Given the description of an element on the screen output the (x, y) to click on. 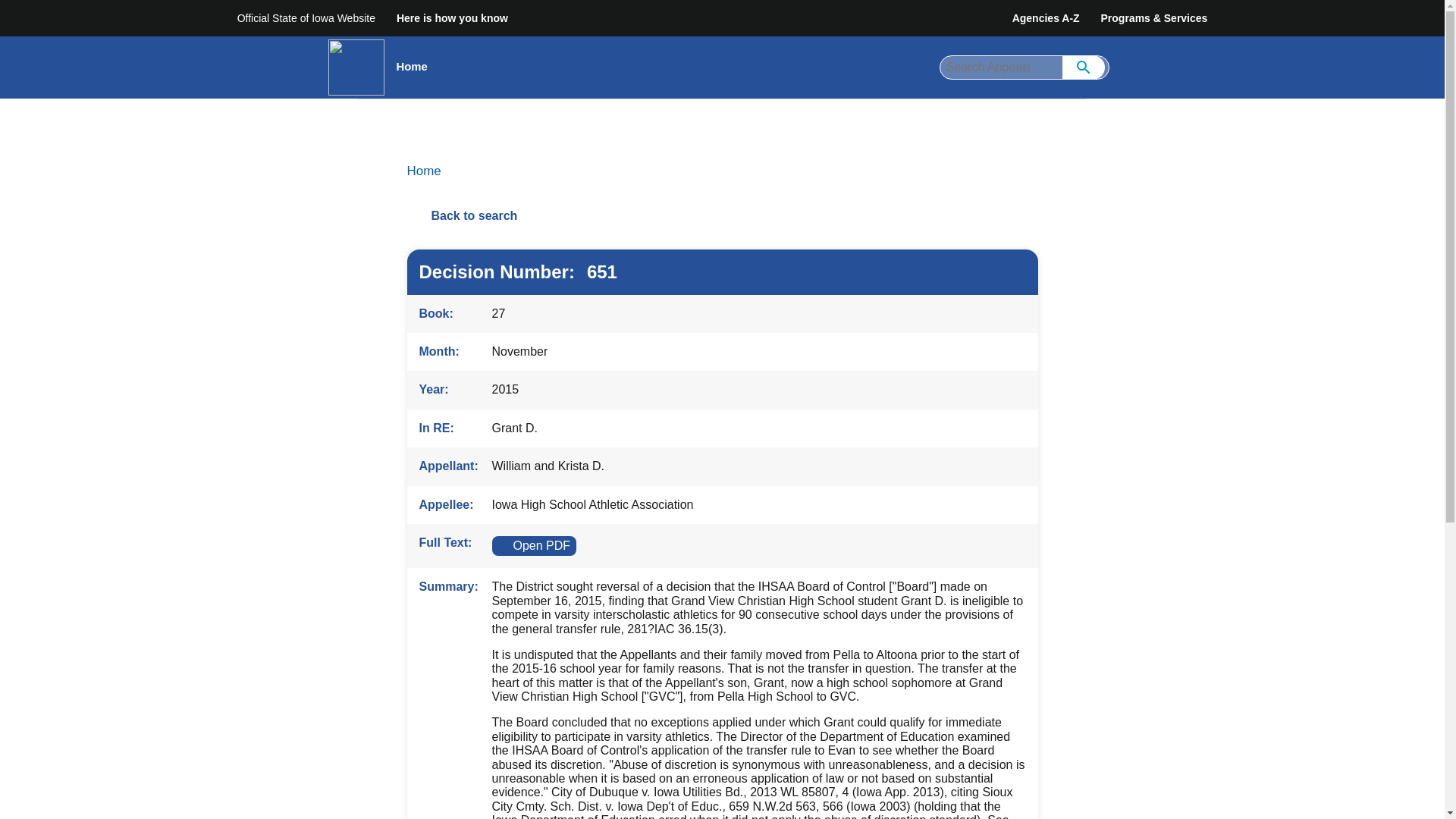
Home (423, 170)
Open PDF (534, 546)
Agencies A-Z (1045, 18)
Enter the terms you wish to search for. (1024, 67)
Back to search (721, 216)
Home (411, 66)
Here is how you know (452, 18)
